Given the description of an element on the screen output the (x, y) to click on. 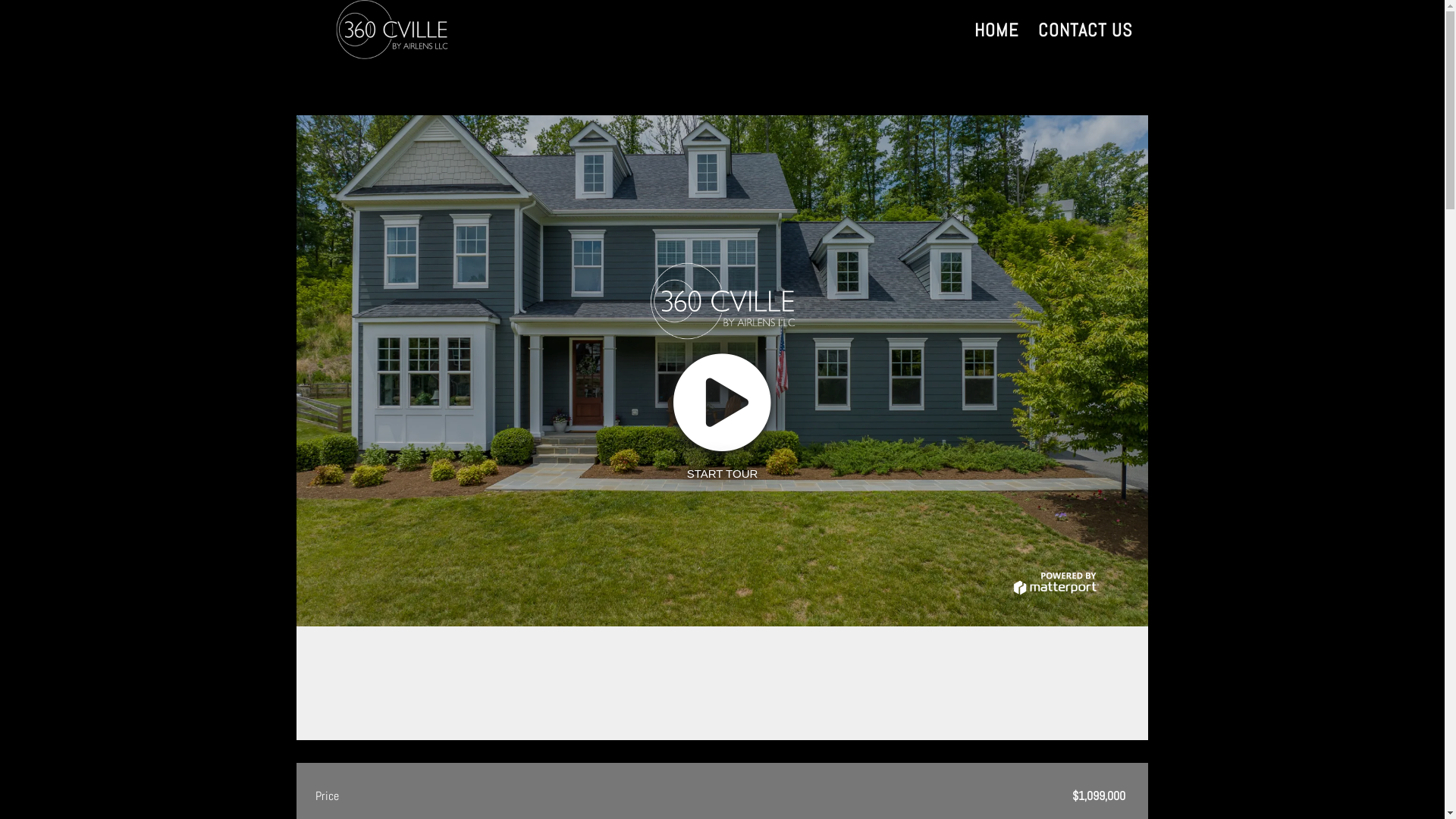
HOME Element type: text (995, 42)
CONTACT US Element type: text (1084, 42)
START TOUR Element type: text (722, 370)
